Given the description of an element on the screen output the (x, y) to click on. 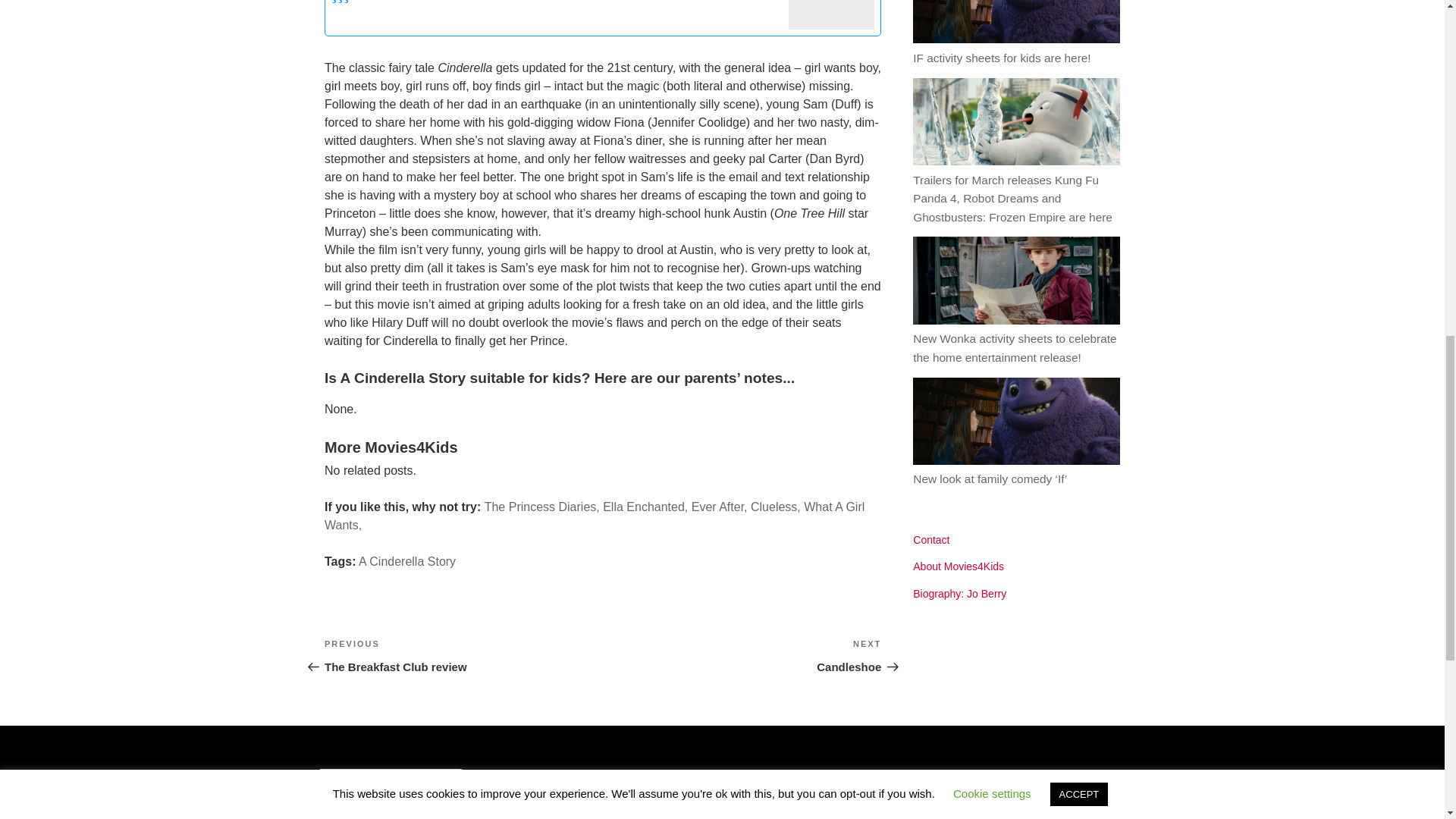
Clueless, (463, 656)
Ever After, (775, 506)
What A Girl Wants, (719, 506)
A Cinderella Story (594, 515)
The Princess Diaries, (406, 561)
Ella Enchanted, (541, 506)
IF activity sheets for kids are here! (644, 506)
